Given the description of an element on the screen output the (x, y) to click on. 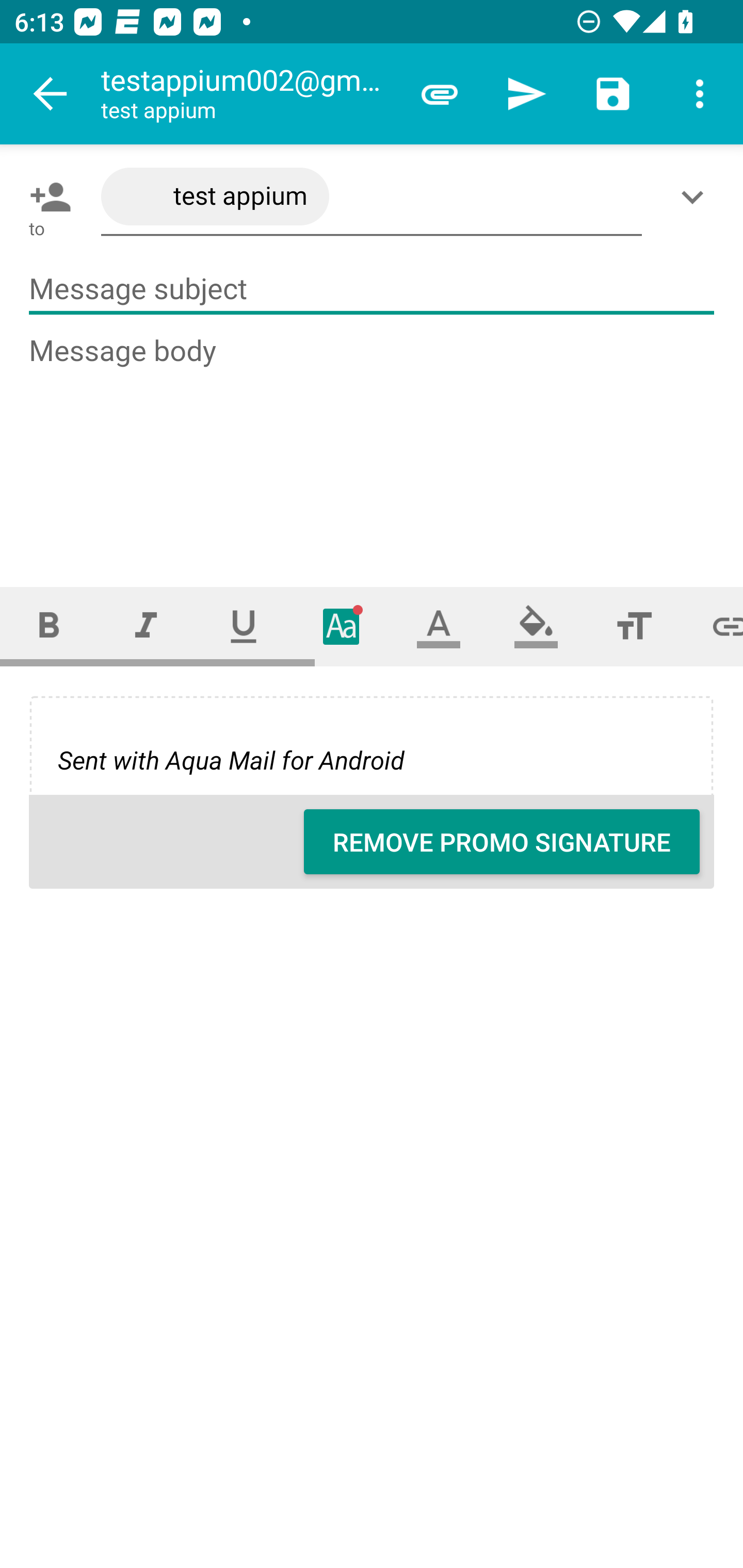
Navigate up (50, 93)
testappium002@gmail.com test appium (248, 93)
Attach (439, 93)
Send (525, 93)
Save (612, 93)
More options (699, 93)
test appium <testappium002@gmail.com>,  (371, 197)
Pick contact: To (46, 196)
Show/Add CC/BCC (696, 196)
Message subject (371, 288)
Message body (372, 442)
Bold (48, 626)
Italic (145, 626)
Underline (243, 626)
Typeface (font) (341, 626)
Text color (438, 626)
Fill color (536, 626)
Font size (633, 626)
REMOVE PROMO SIGNATURE (501, 841)
